Given the description of an element on the screen output the (x, y) to click on. 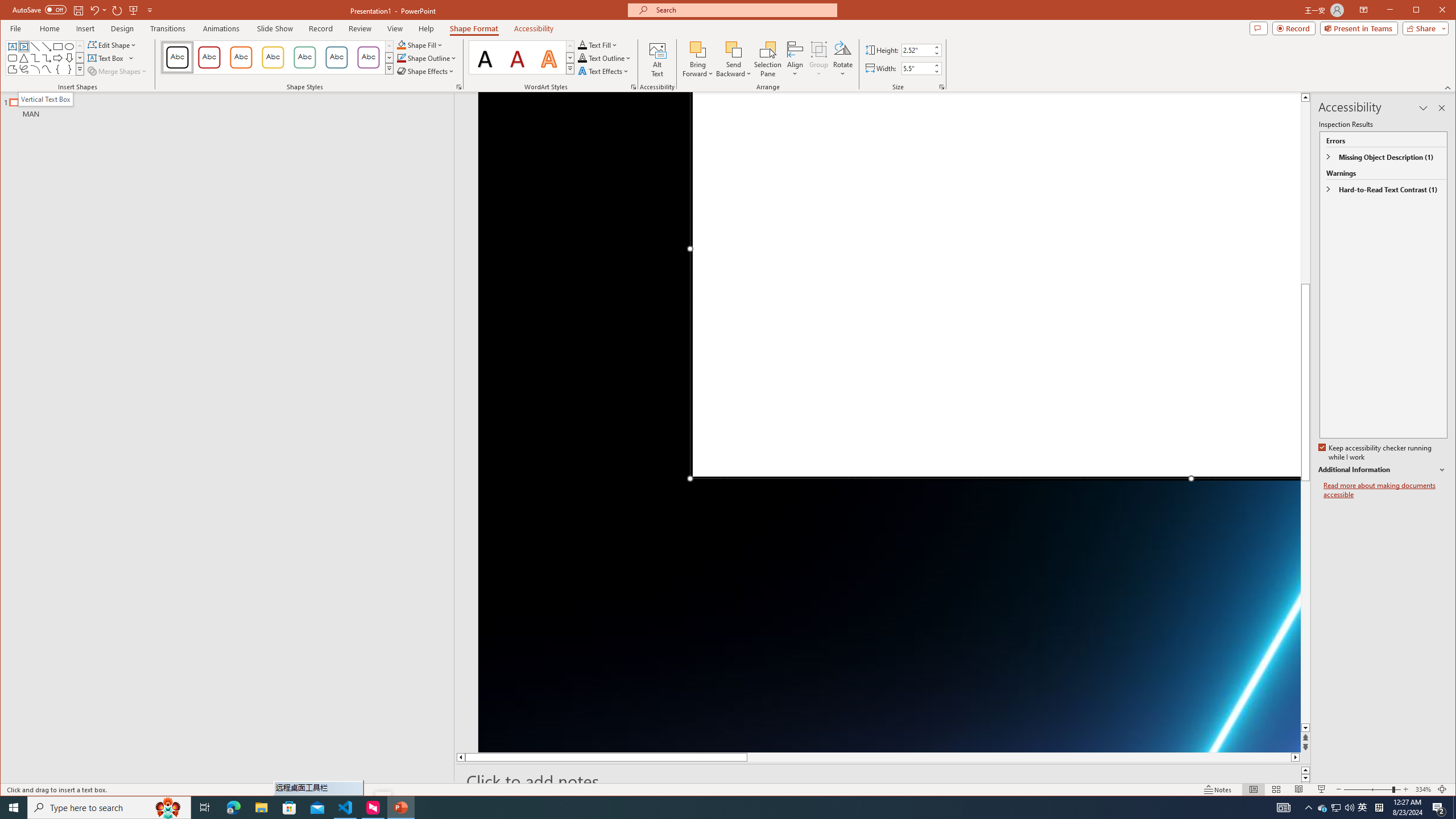
Text Outline (604, 57)
Text Outline RGB(0, 0, 0) (582, 57)
